Given the description of an element on the screen output the (x, y) to click on. 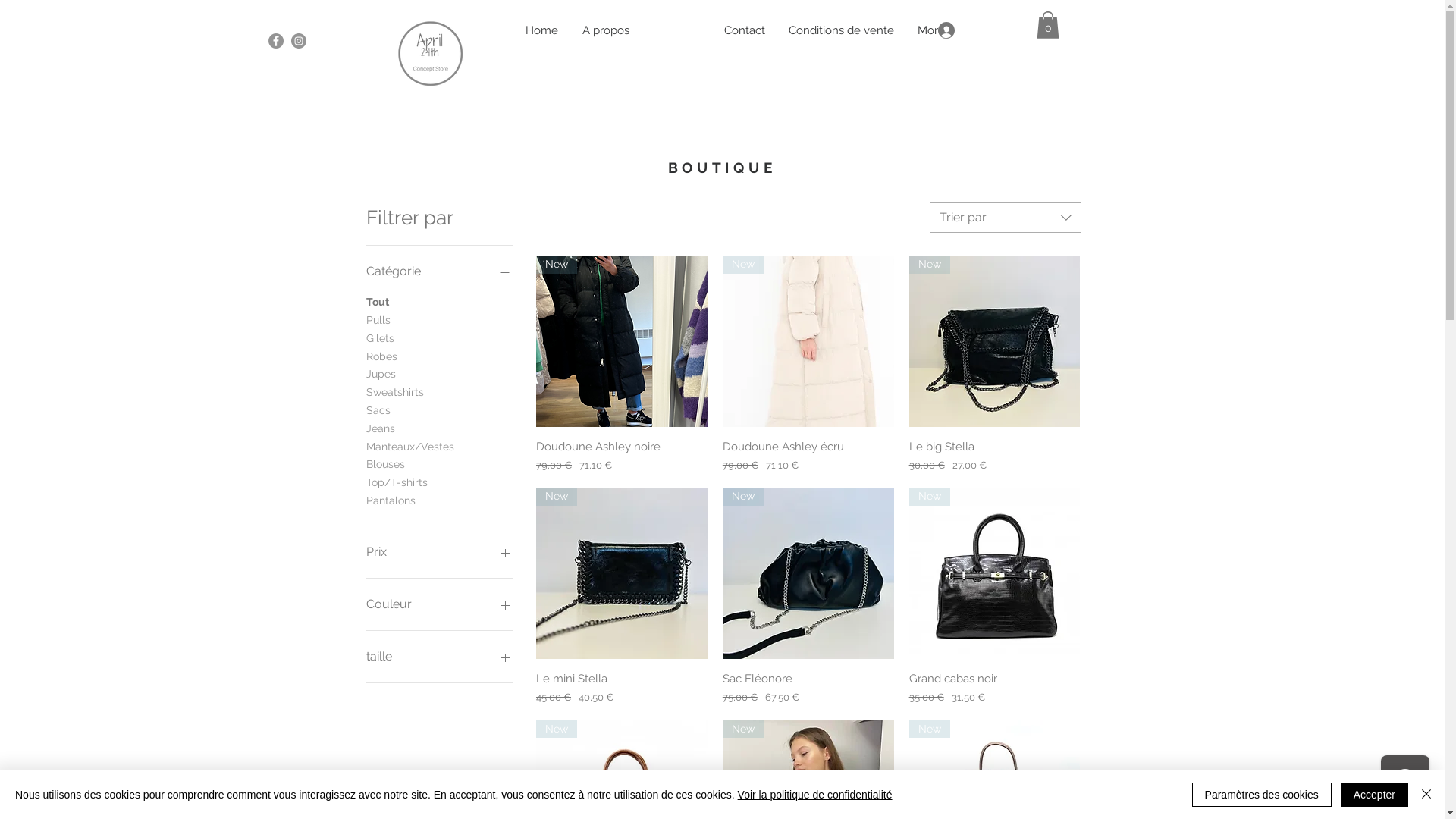
New Element type: text (621, 572)
Conditions de vente Element type: text (840, 29)
New Element type: text (621, 340)
New Element type: text (994, 340)
New Element type: text (808, 572)
taille Element type: text (438, 656)
0 Element type: text (1046, 24)
Couleur Element type: text (438, 604)
New Element type: text (994, 572)
A propos Element type: text (605, 29)
Prix Element type: text (438, 551)
Home Element type: text (540, 29)
Boutique Element type: text (676, 29)
New Element type: text (808, 340)
Trier par Element type: text (1005, 217)
Se connecter Element type: text (971, 30)
Accepter Element type: text (1374, 794)
Contact Element type: text (744, 29)
